Given the description of an element on the screen output the (x, y) to click on. 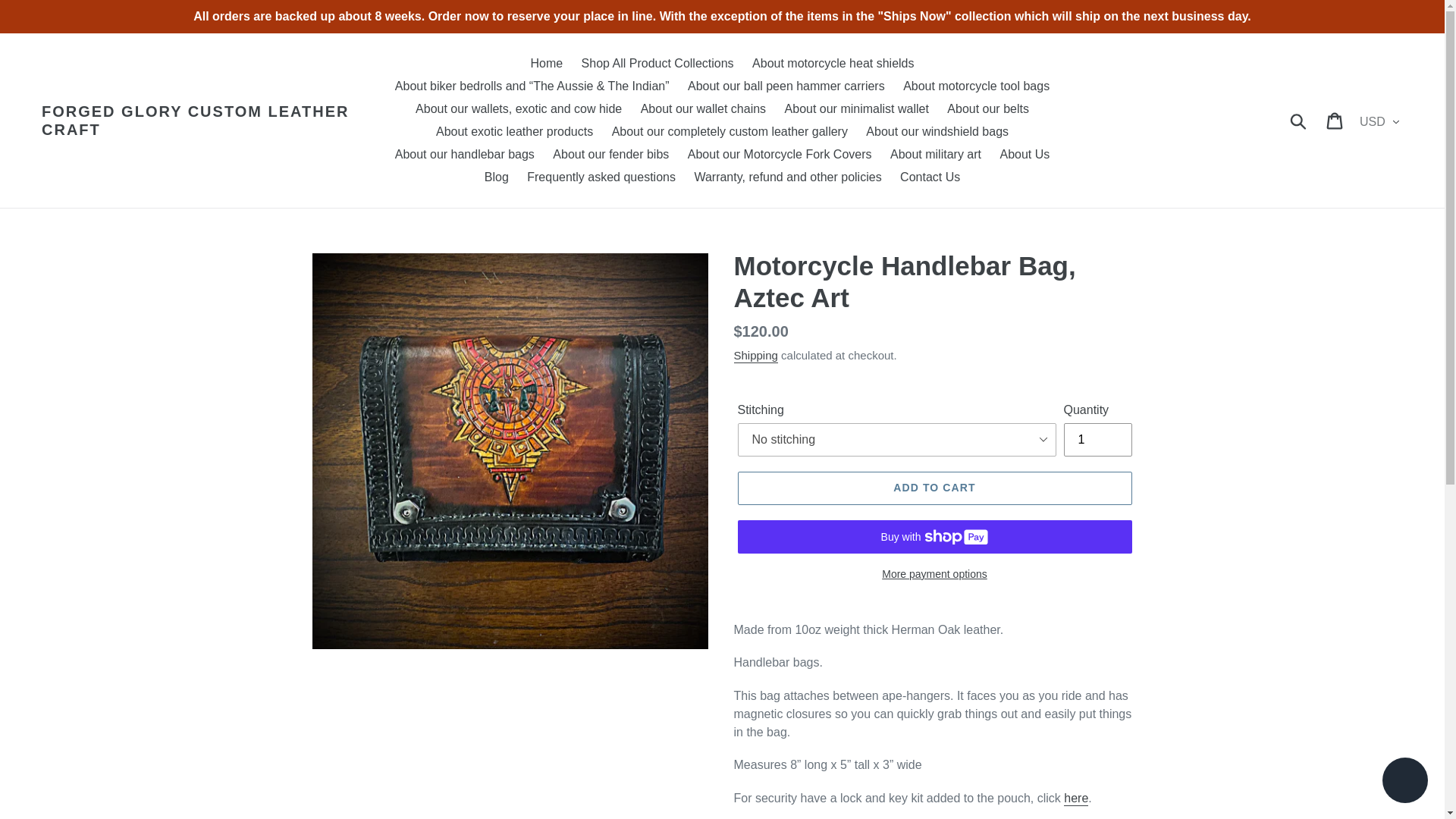
Shop All Product Collections (657, 63)
Contact Us (930, 177)
About military art (935, 154)
Frequently asked questions (600, 177)
About our windshield bags (937, 131)
About our completely custom leather gallery (730, 131)
About our Motorcycle Fork Covers (779, 154)
Cart (1335, 120)
About Us (1024, 154)
About our wallets, exotic and cow hide (517, 108)
Home (546, 63)
About exotic leather products (513, 131)
About motorcycle tool bags (976, 86)
1 (1096, 439)
About our minimalist wallet (856, 108)
